Given the description of an element on the screen output the (x, y) to click on. 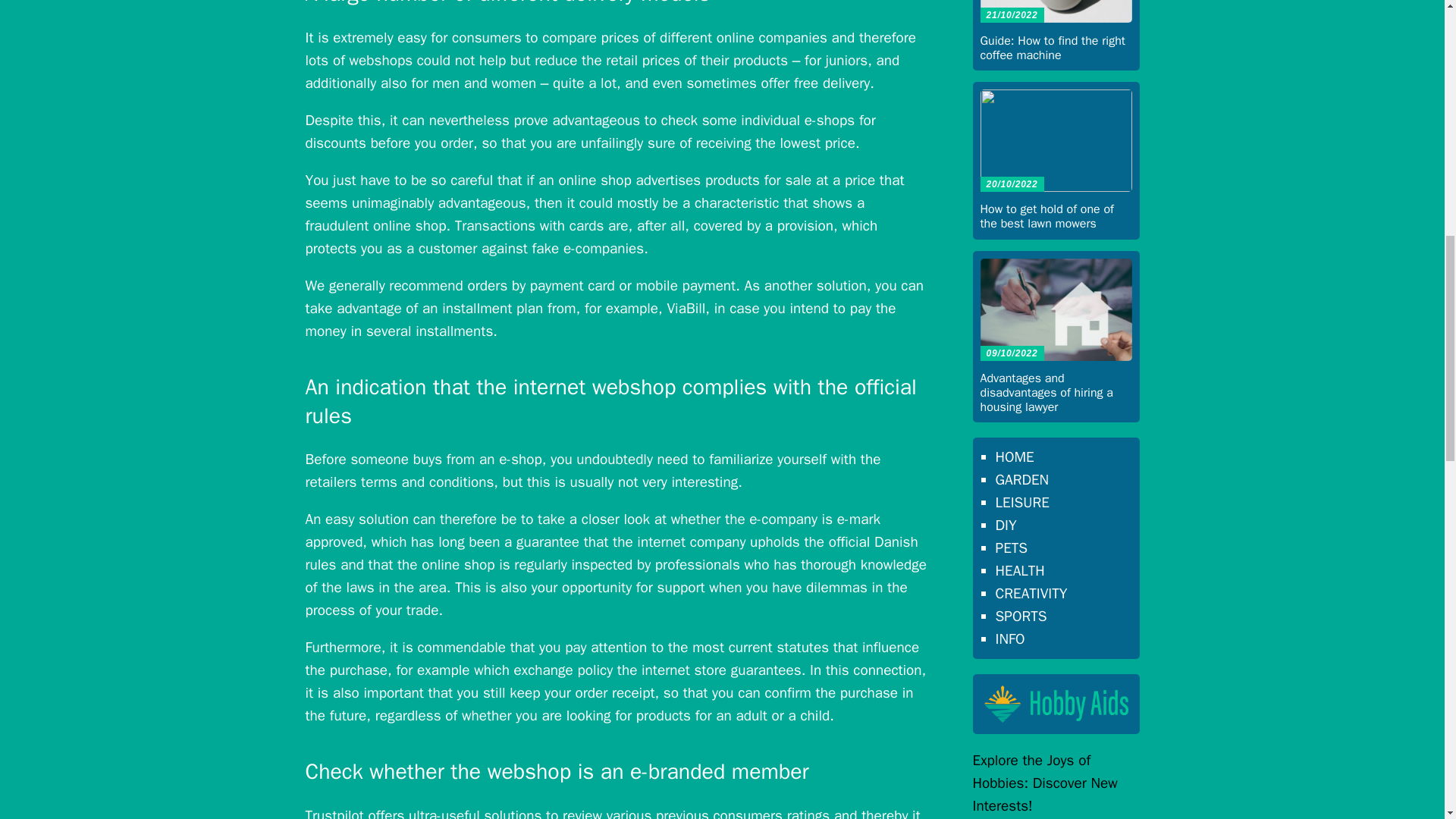
HEALTH (1018, 570)
GARDEN (1021, 479)
CREATIVITY (1030, 593)
Explore the Joys of Hobbies: Discover New Interests! (1044, 782)
LEISURE (1021, 502)
SPORTS (1020, 616)
PETS (1010, 547)
INFO (1009, 638)
DIY (1005, 525)
HOME (1013, 456)
